Given the description of an element on the screen output the (x, y) to click on. 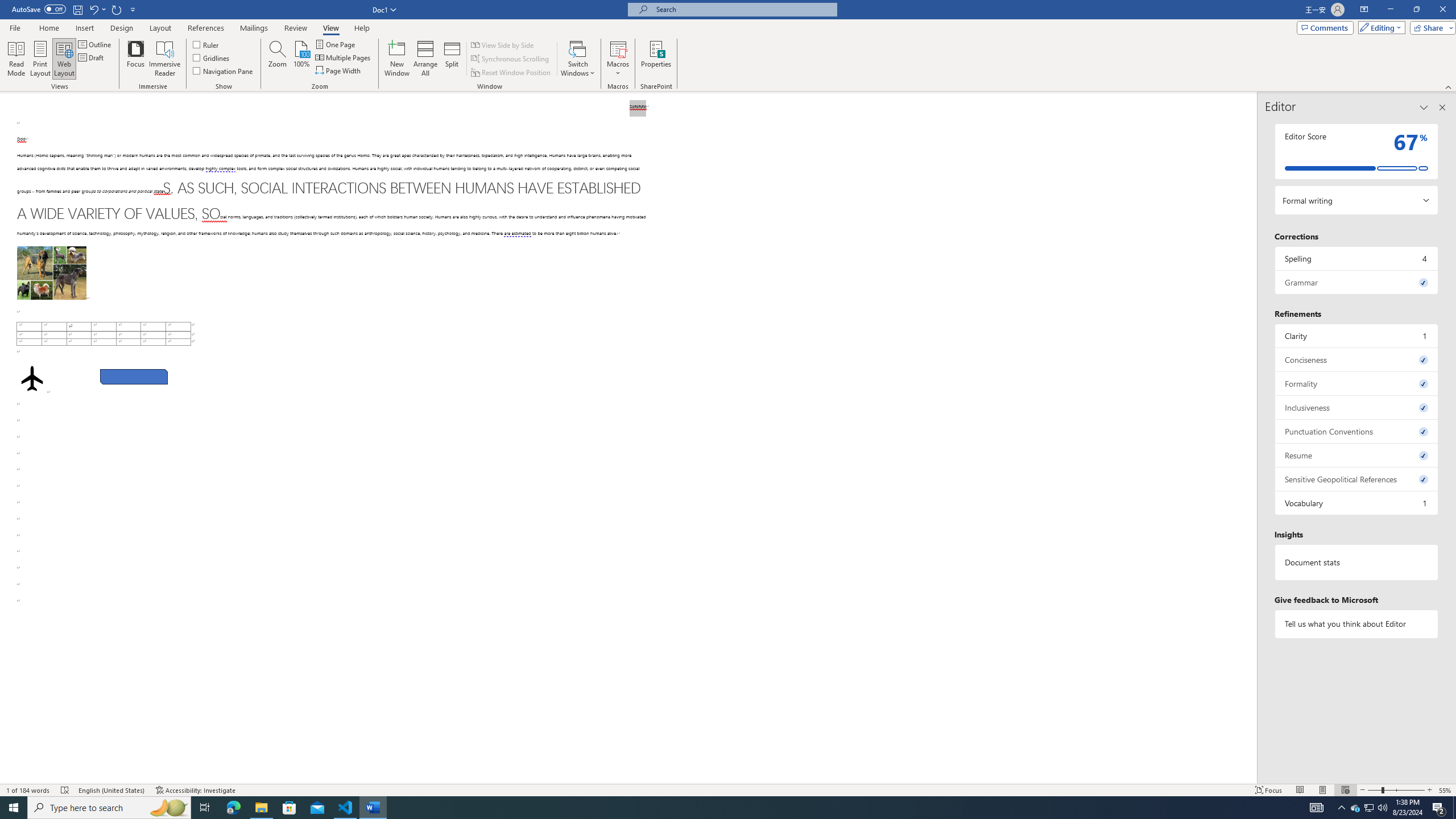
Navigation Pane (223, 69)
Switch Windows (577, 58)
Accessibility Checker Accessibility: Investigate (195, 790)
Editing (1379, 27)
Reset Window Position (511, 72)
Draft (91, 56)
